Given the description of an element on the screen output the (x, y) to click on. 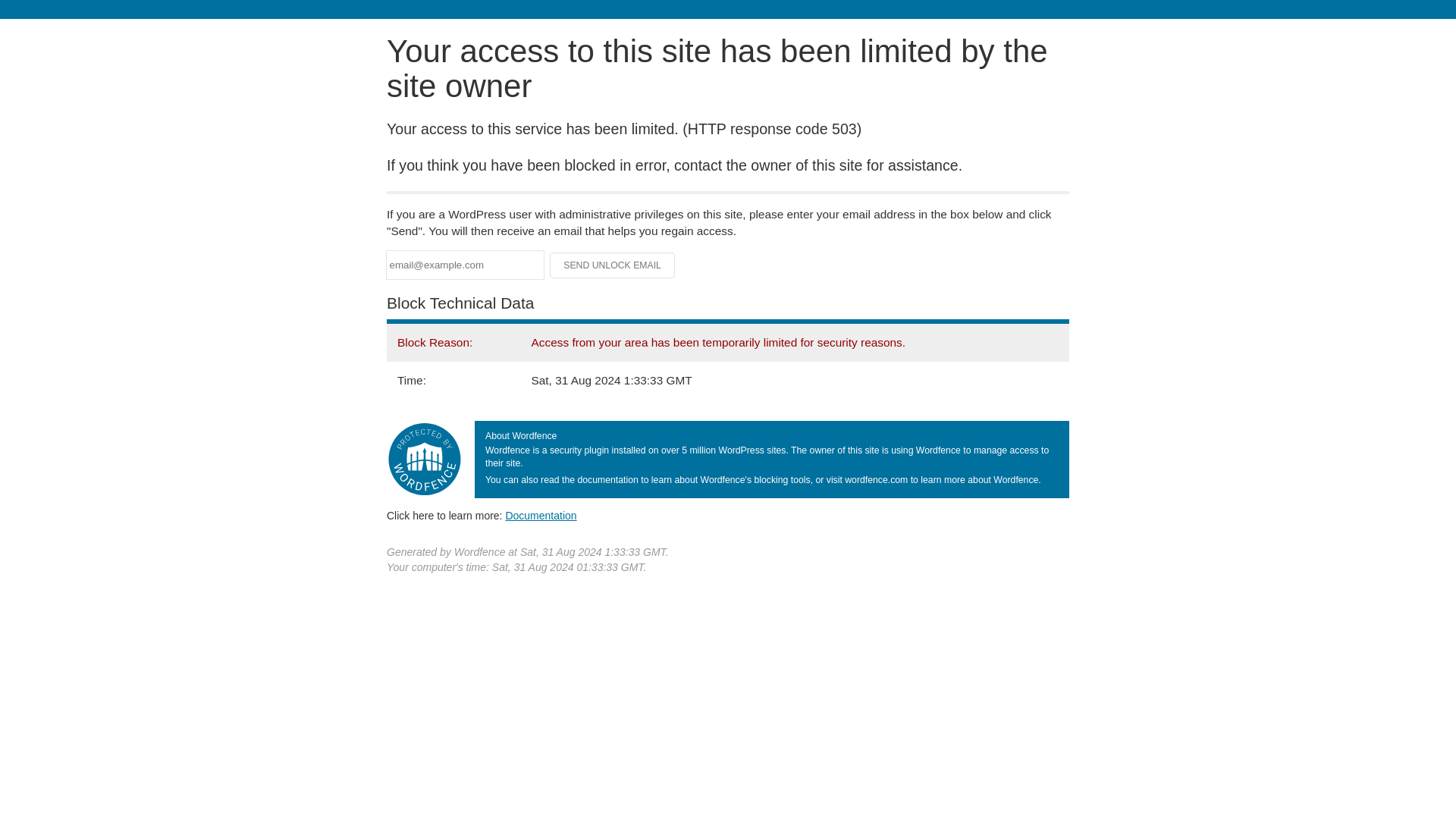
Documentation (540, 515)
Send Unlock Email (612, 265)
Send Unlock Email (612, 265)
